Given the description of an element on the screen output the (x, y) to click on. 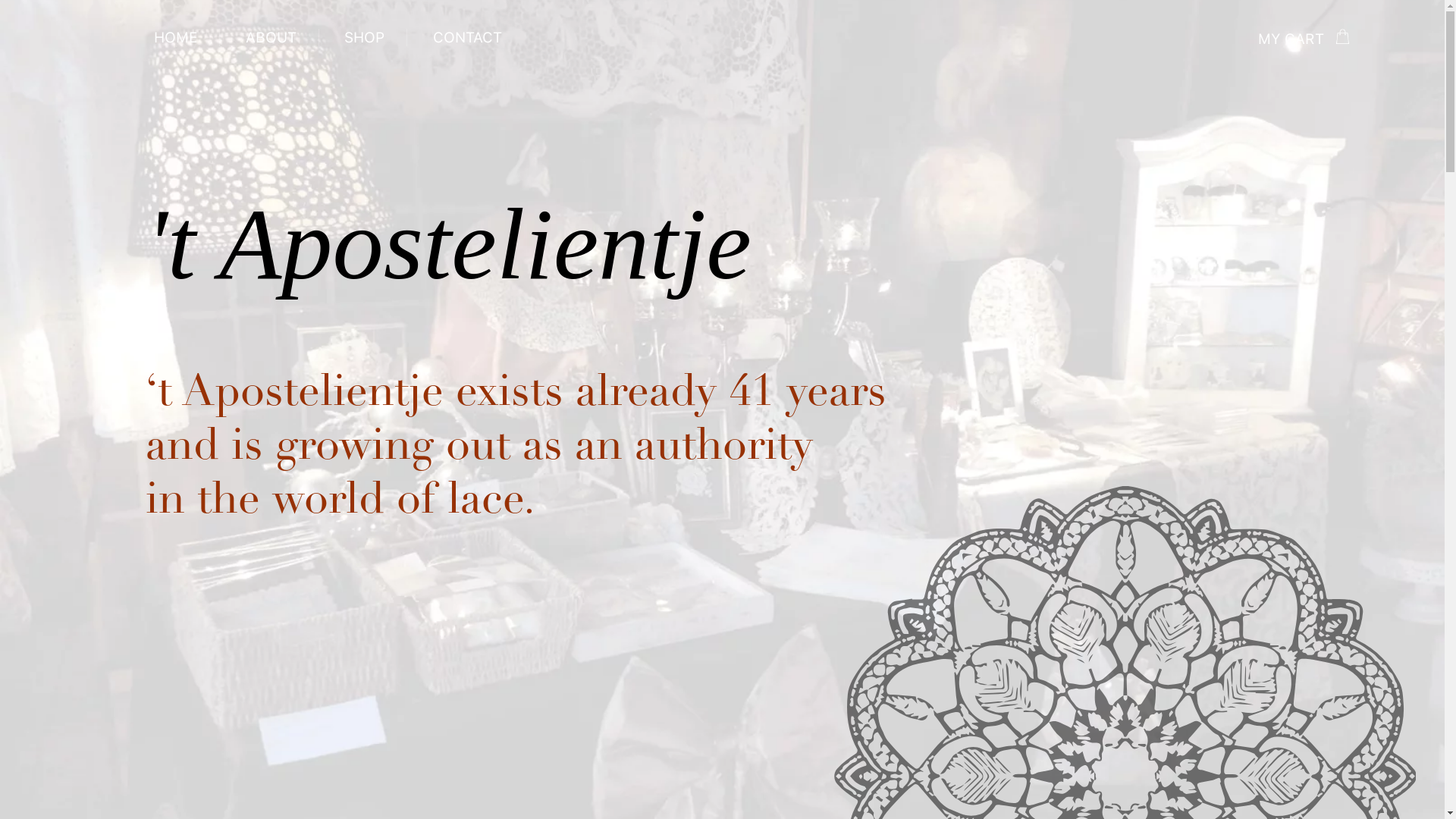
SHOP Element type: text (364, 37)
ABOUT Element type: text (271, 37)
CONTACT Element type: text (467, 37)
HOME Element type: text (175, 37)
MY CART Element type: text (1304, 38)
